Given the description of an element on the screen output the (x, y) to click on. 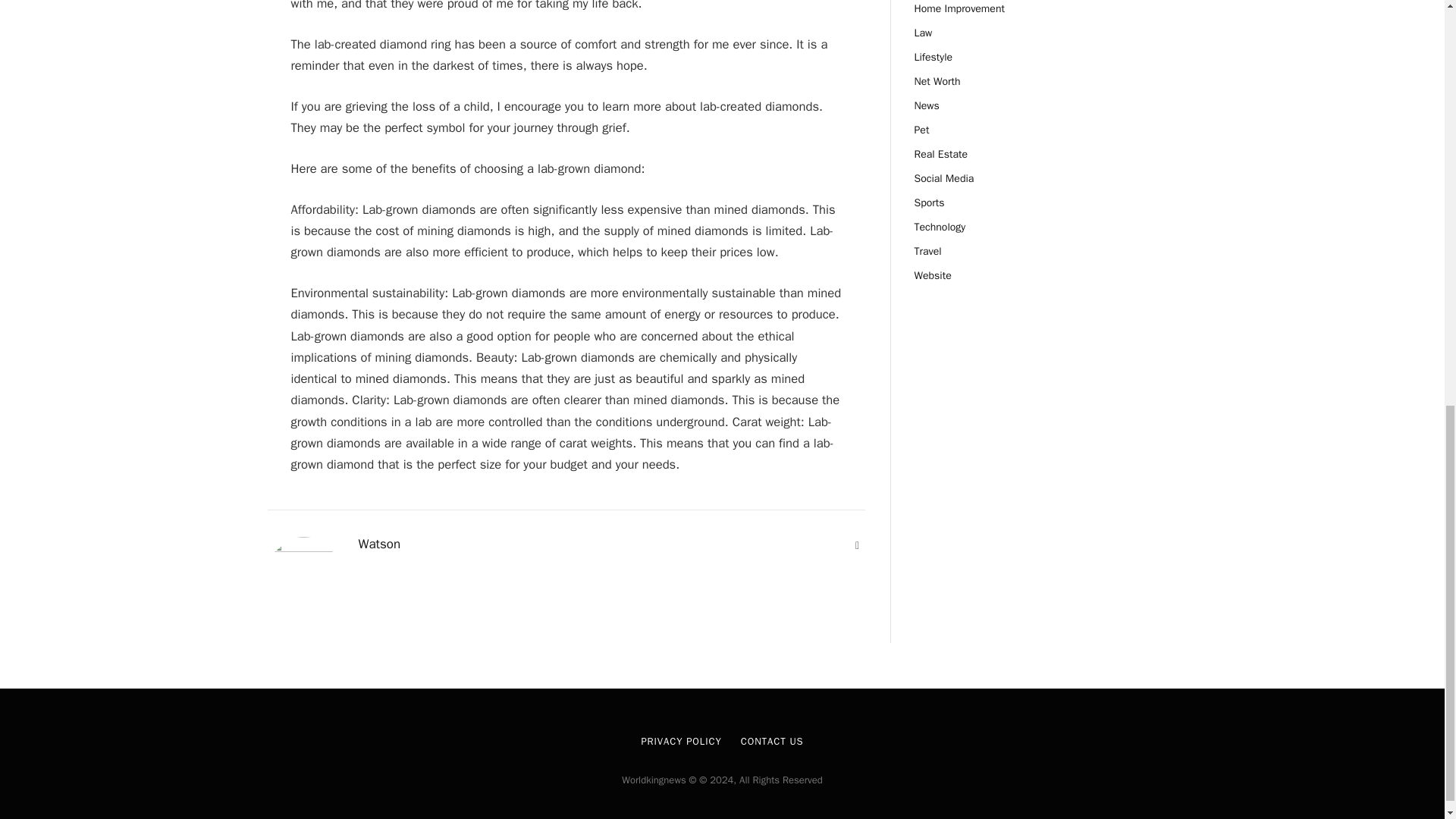
Website (856, 545)
Posts by Watson (379, 544)
Watson (379, 544)
Website (856, 545)
